Given the description of an element on the screen output the (x, y) to click on. 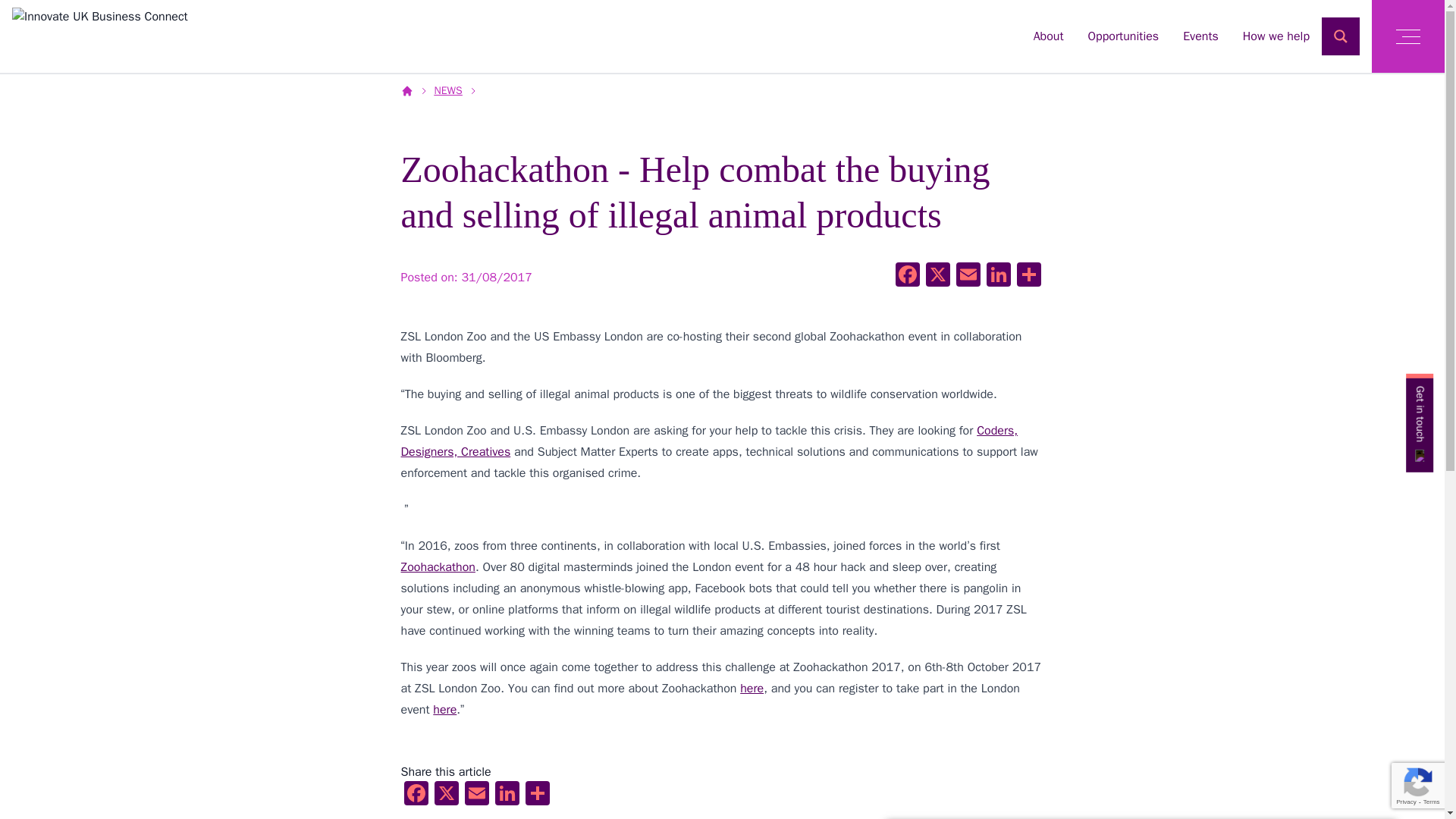
Email (476, 795)
Home (99, 31)
Opportunities (1122, 36)
Facebook (415, 795)
X (936, 276)
Email (967, 276)
LinkedIn (997, 276)
X (445, 795)
About (1048, 36)
Events (1200, 36)
